Given the description of an element on the screen output the (x, y) to click on. 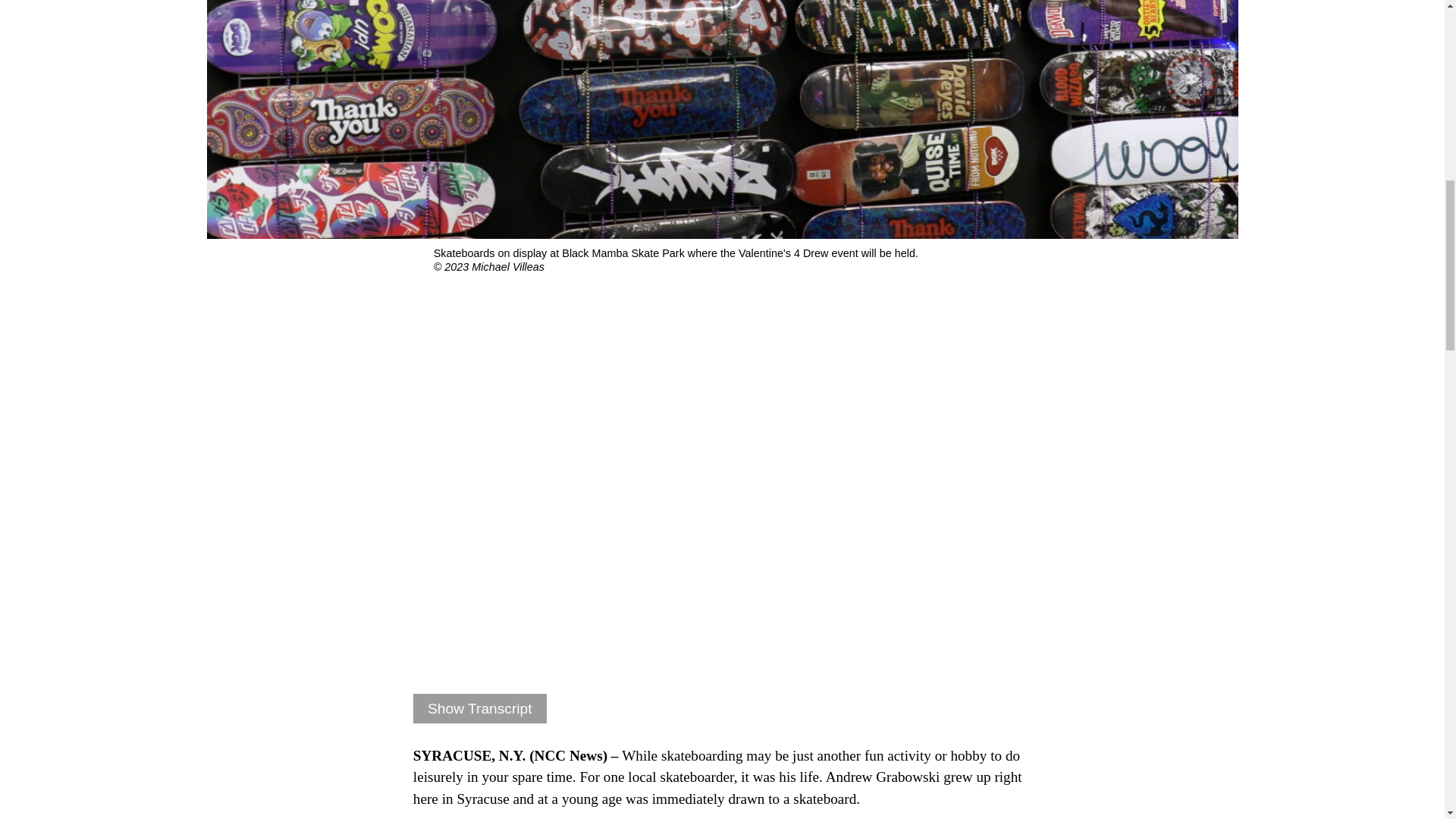
Show Transcript (480, 707)
